Given the description of an element on the screen output the (x, y) to click on. 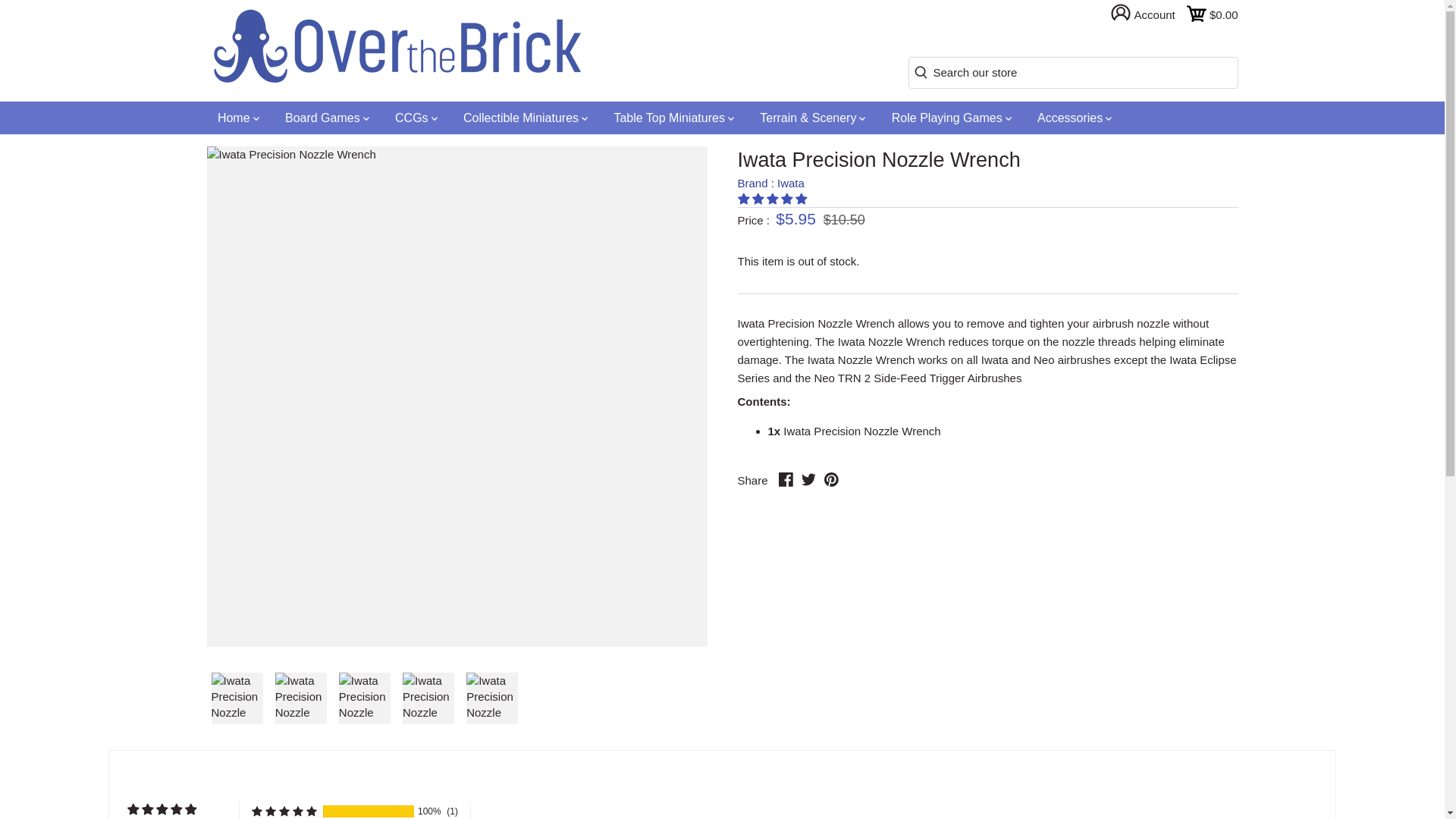
Facebook (785, 479)
Home (237, 117)
Pinterest (831, 479)
Account (1148, 14)
CCGs (416, 117)
Twitter (808, 479)
Board Games (327, 117)
